Given the description of an element on the screen output the (x, y) to click on. 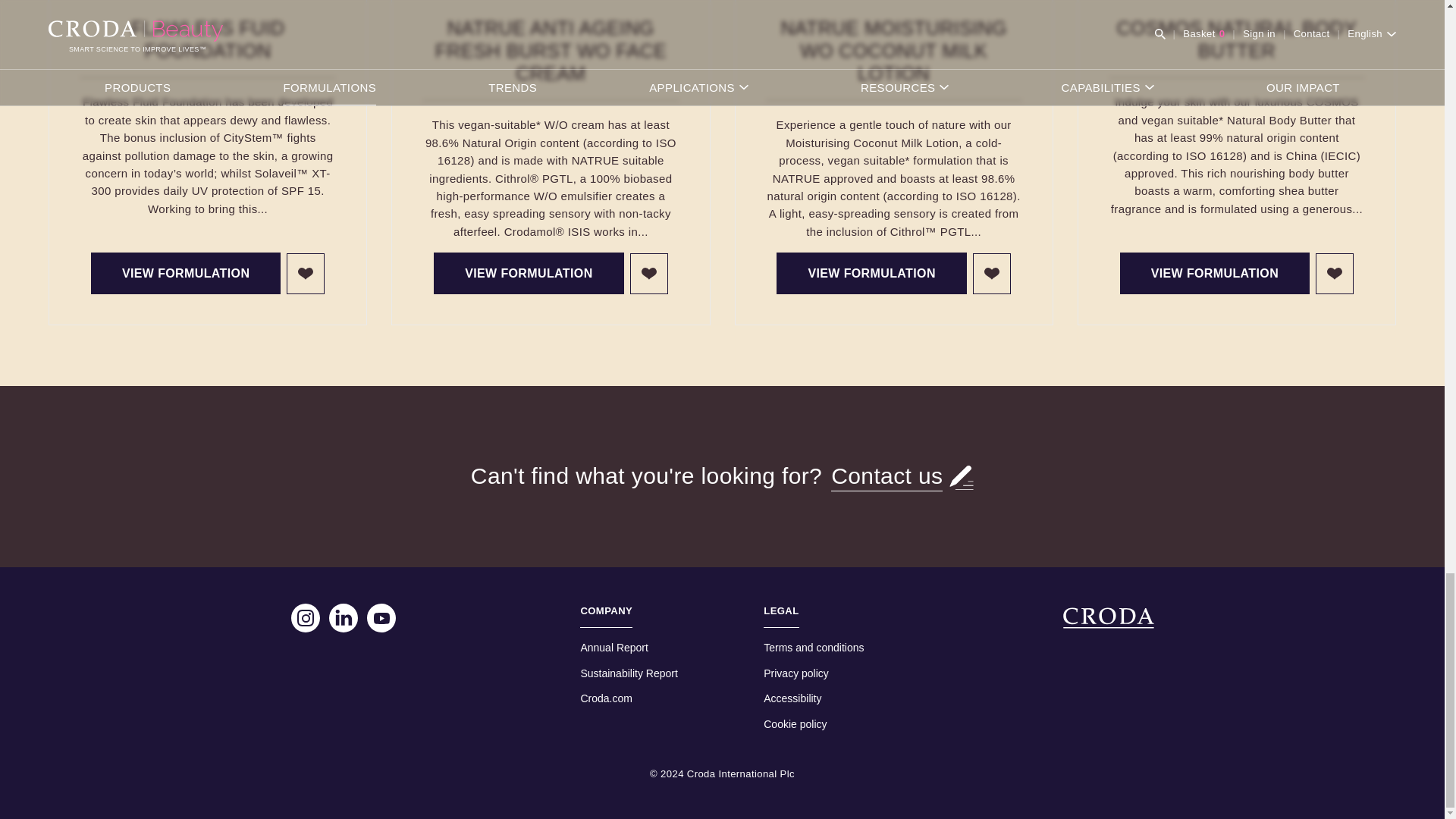
Login (649, 273)
Login (991, 273)
Login (305, 273)
Login (1335, 273)
